Given the description of an element on the screen output the (x, y) to click on. 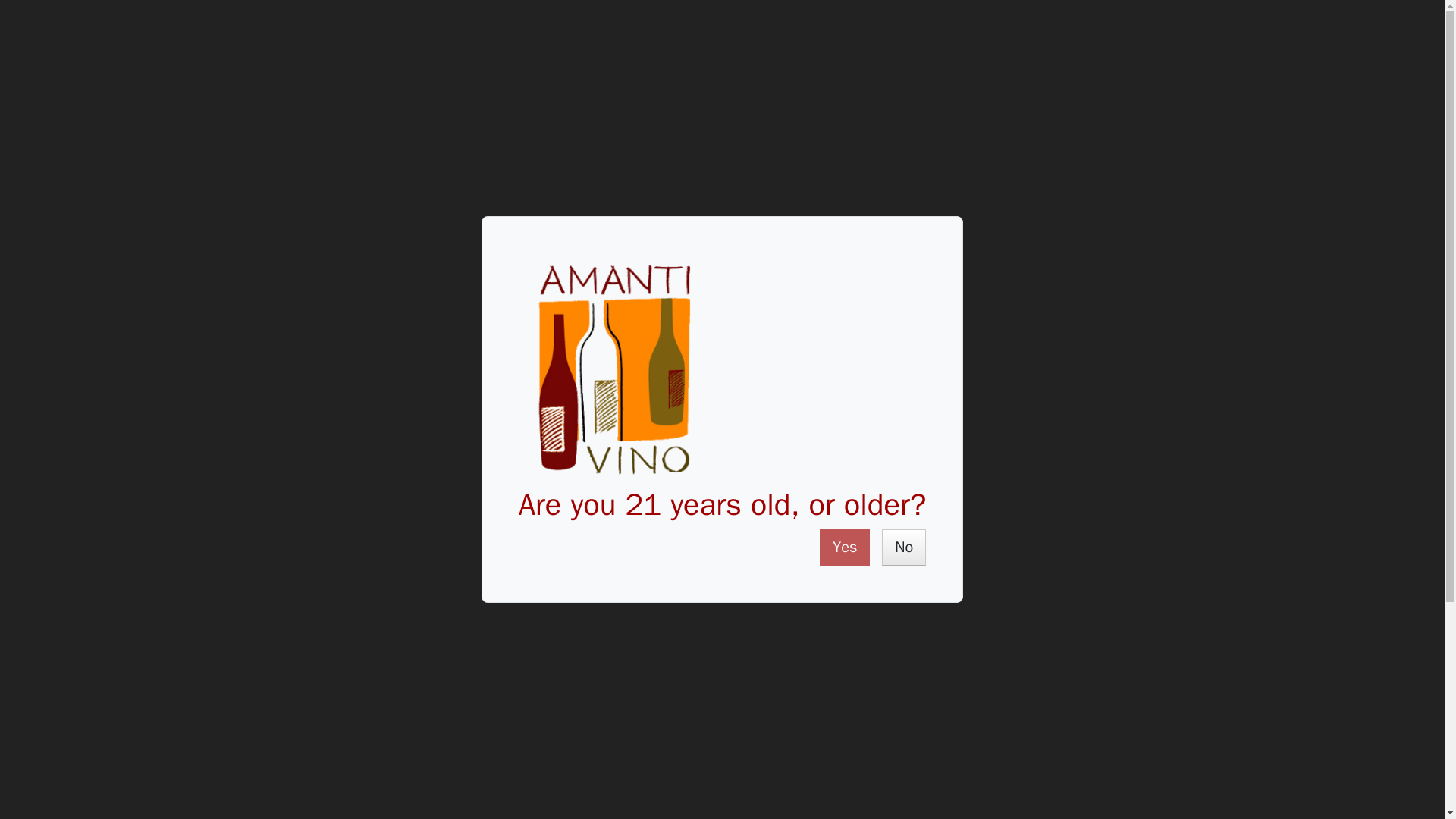
Wine (84, 69)
973-509-9463 (1221, 19)
